Given the description of an element on the screen output the (x, y) to click on. 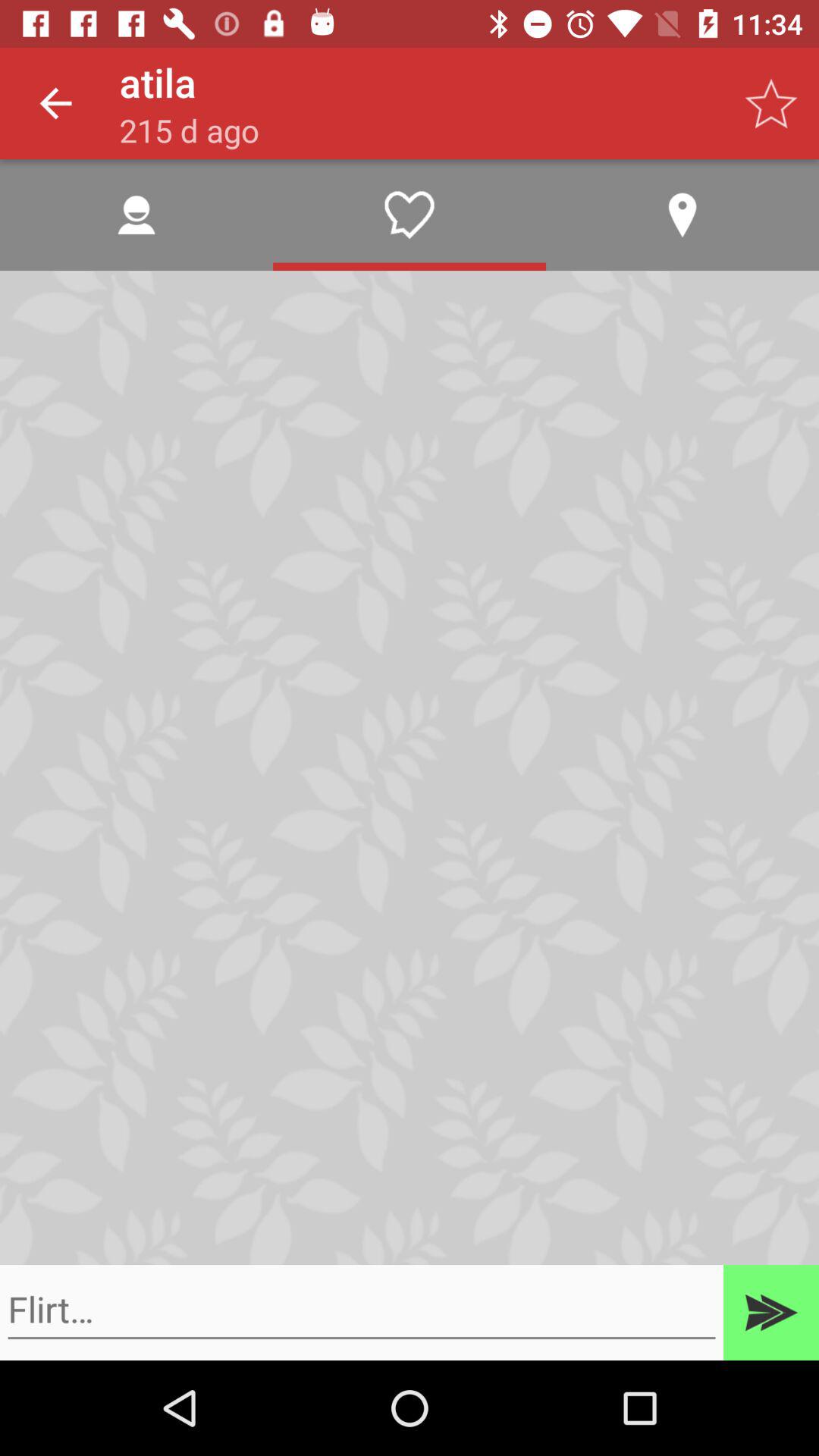
text image (361, 1309)
